Given the description of an element on the screen output the (x, y) to click on. 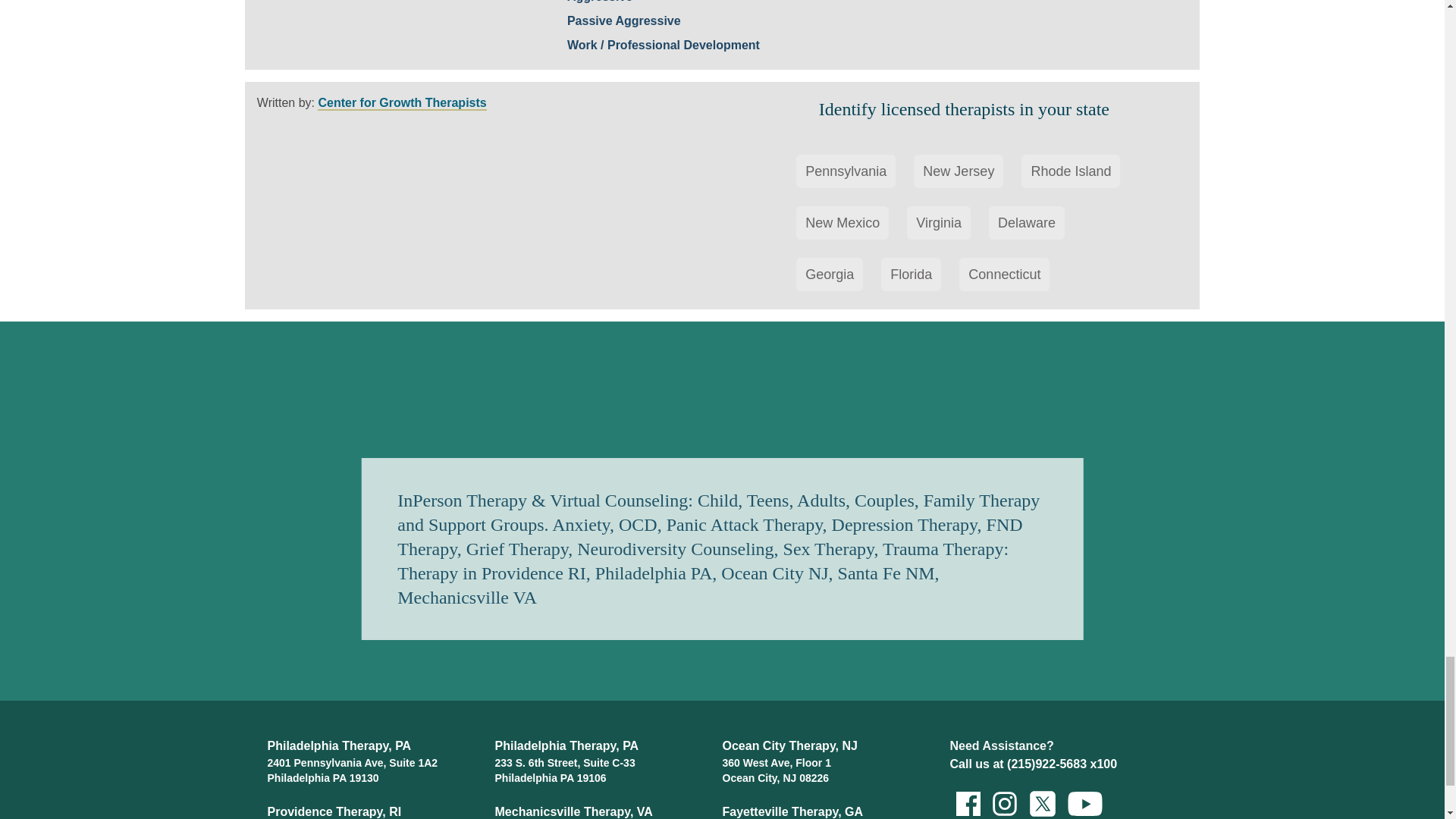
The Center For Growth on YouTube (1076, 802)
The Center For Growth on Twitter (1040, 802)
The Center For Growth on Instagram (1003, 802)
The Center For Growth on Facebook (967, 802)
